Given the description of an element on the screen output the (x, y) to click on. 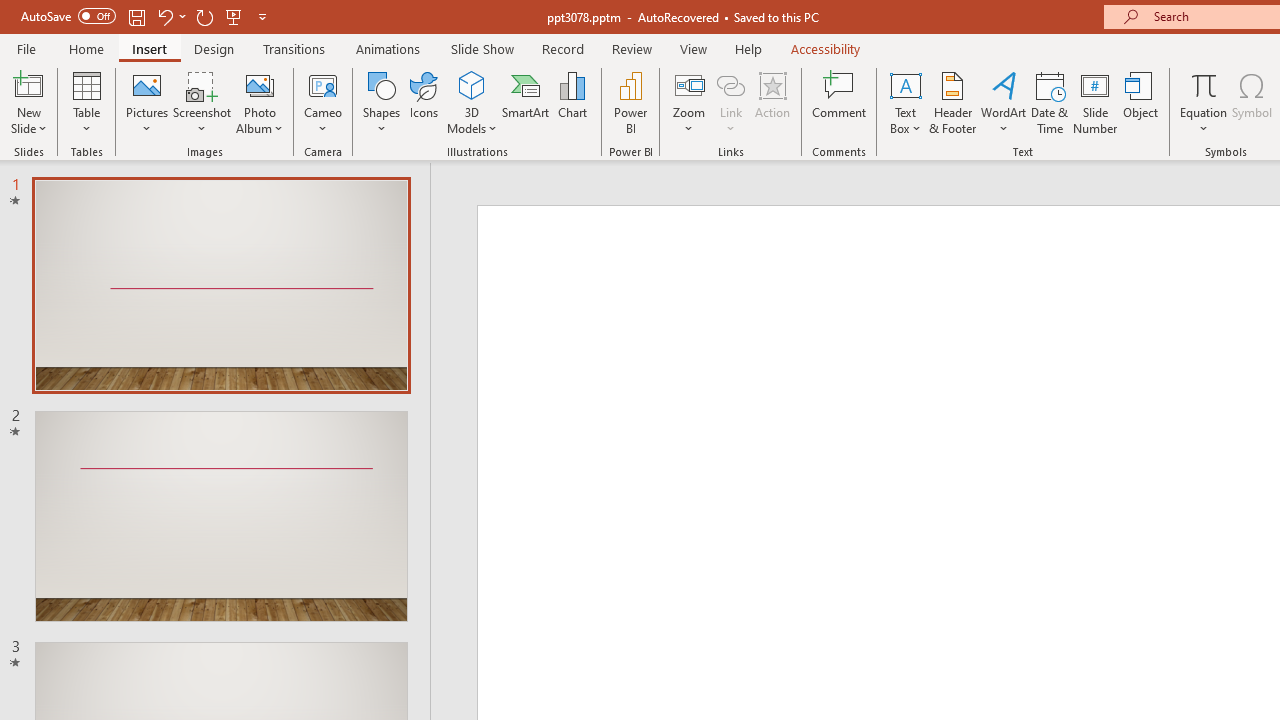
Equation (1203, 102)
Slide Number (1095, 102)
Comment (839, 102)
Draw Horizontal Text Box (905, 84)
3D Models (472, 102)
Header & Footer... (952, 102)
Icons (424, 102)
3D Models (472, 84)
